Given the description of an element on the screen output the (x, y) to click on. 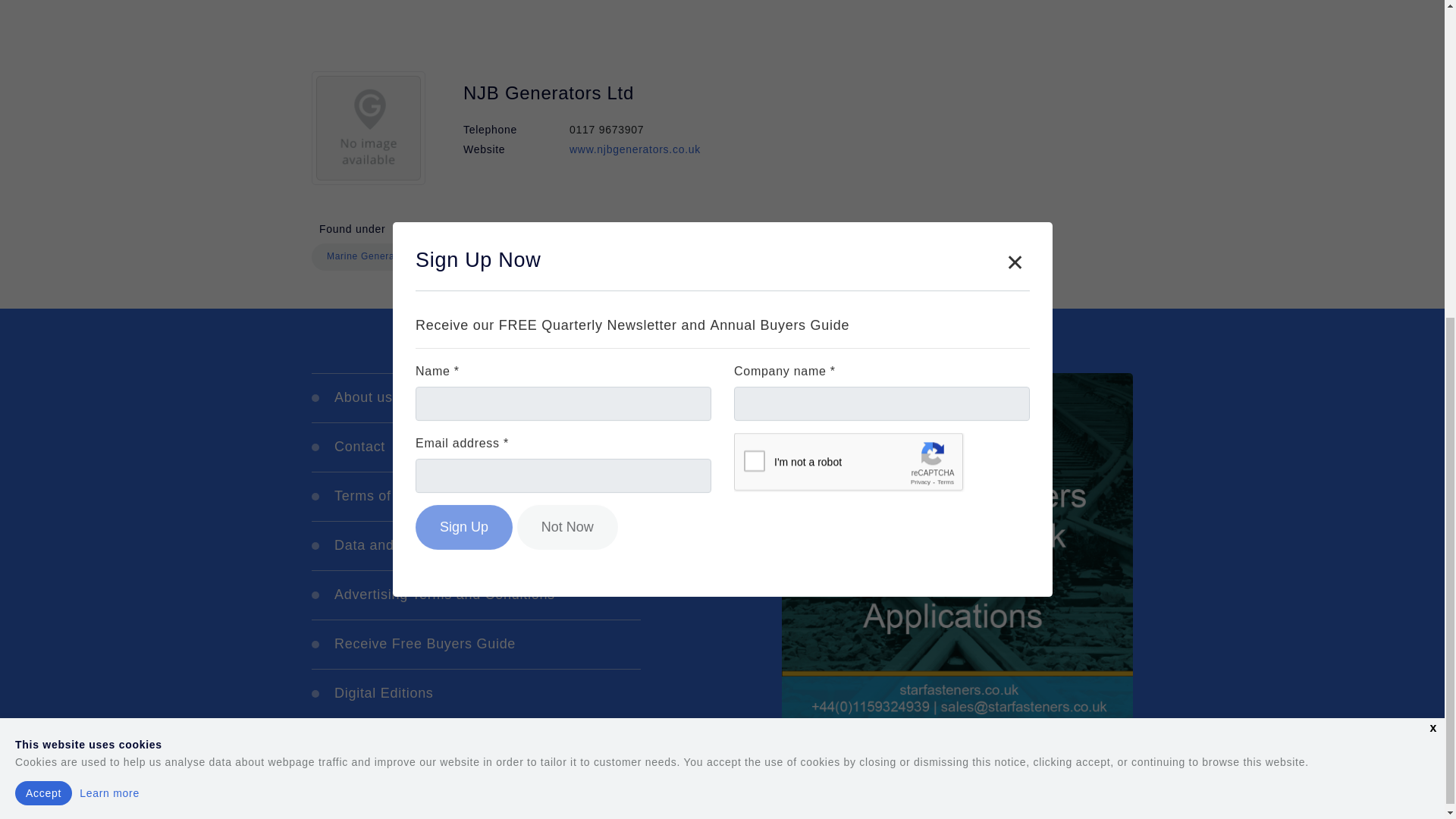
Terms of Use (475, 495)
Contact (475, 446)
Receive Free Buyers Guide (475, 644)
Sign Up (463, 17)
www.njbgenerators.co.uk (634, 149)
Data and Privacy Policy (475, 545)
Advertising Terms and Conditions (475, 594)
Marine Generators (368, 257)
Digital Editions (475, 694)
About us (475, 397)
